Given the description of an element on the screen output the (x, y) to click on. 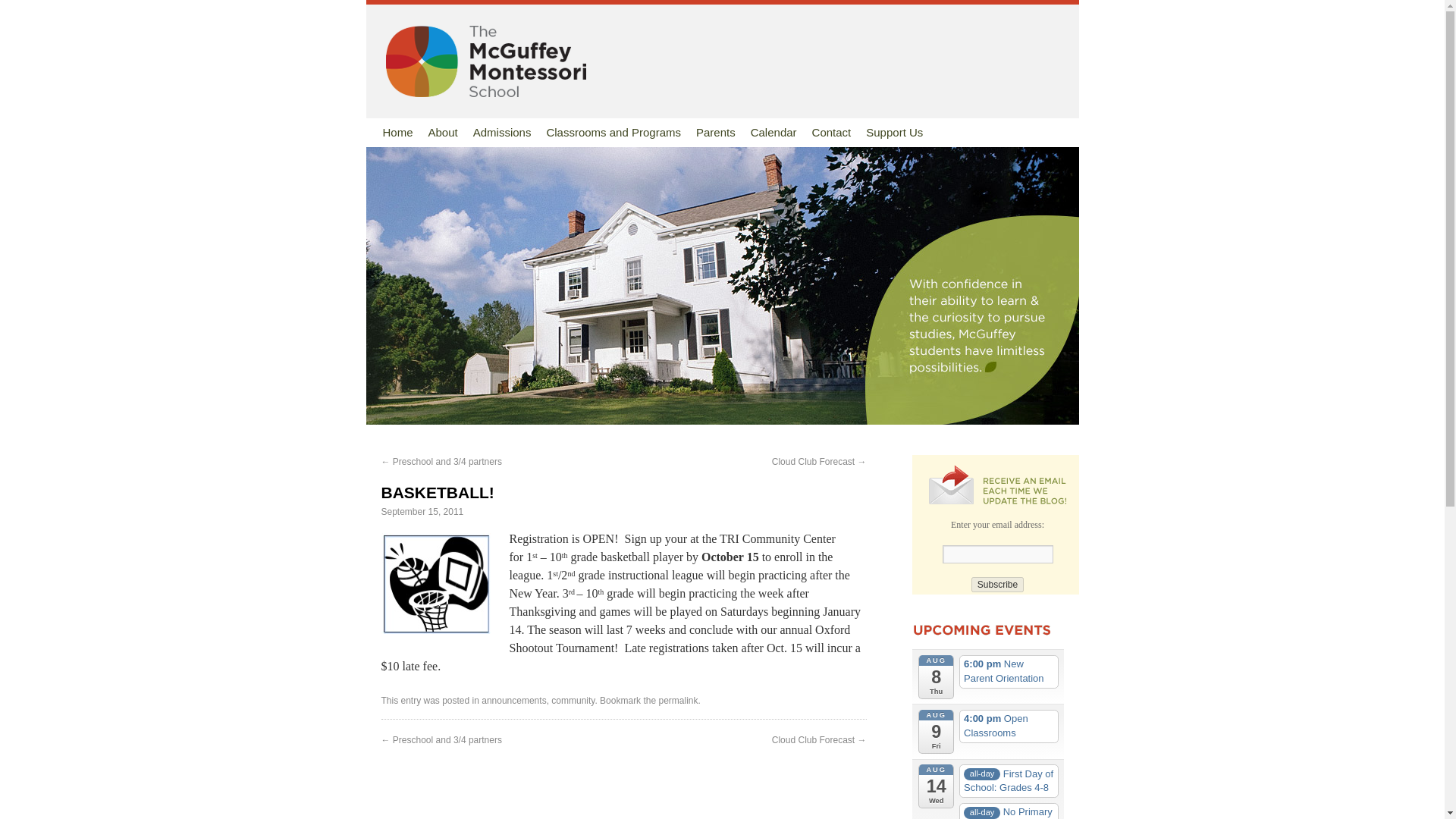
Parents (715, 132)
Permalink to Basketball! (677, 700)
Home (397, 132)
7:09 pm (421, 511)
Admissions (501, 132)
Contact (832, 132)
Support Us (894, 132)
Subscribe (997, 584)
About (442, 132)
